Given the description of an element on the screen output the (x, y) to click on. 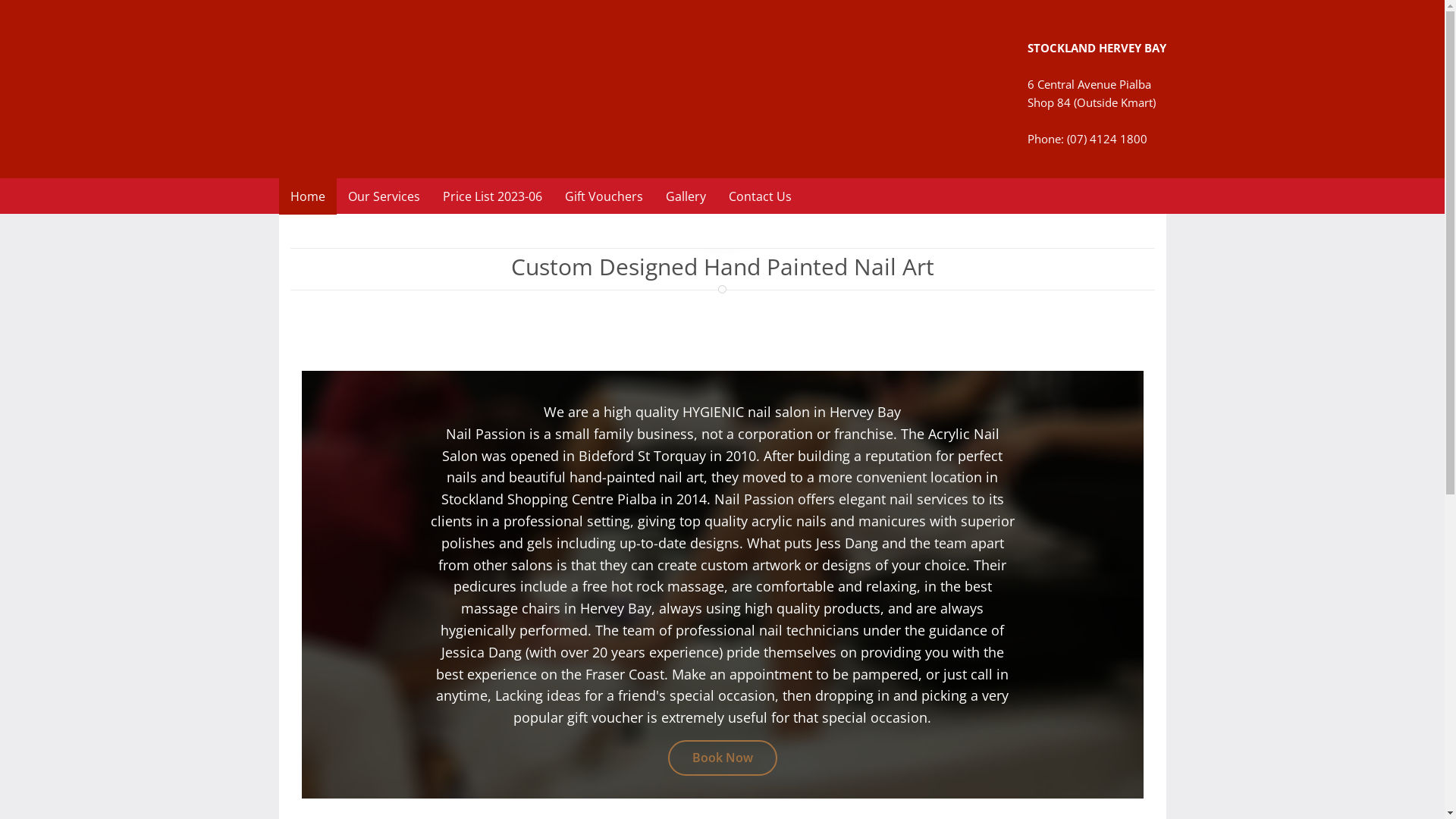
Gift Vouchers Element type: text (603, 196)
Book Now Element type: text (721, 757)
Our Services Element type: text (383, 196)
Gallery Element type: text (684, 196)
Contact Us Element type: text (760, 196)
Price List 2023-06 Element type: text (491, 196)
Home Element type: text (307, 196)
